Given the description of an element on the screen output the (x, y) to click on. 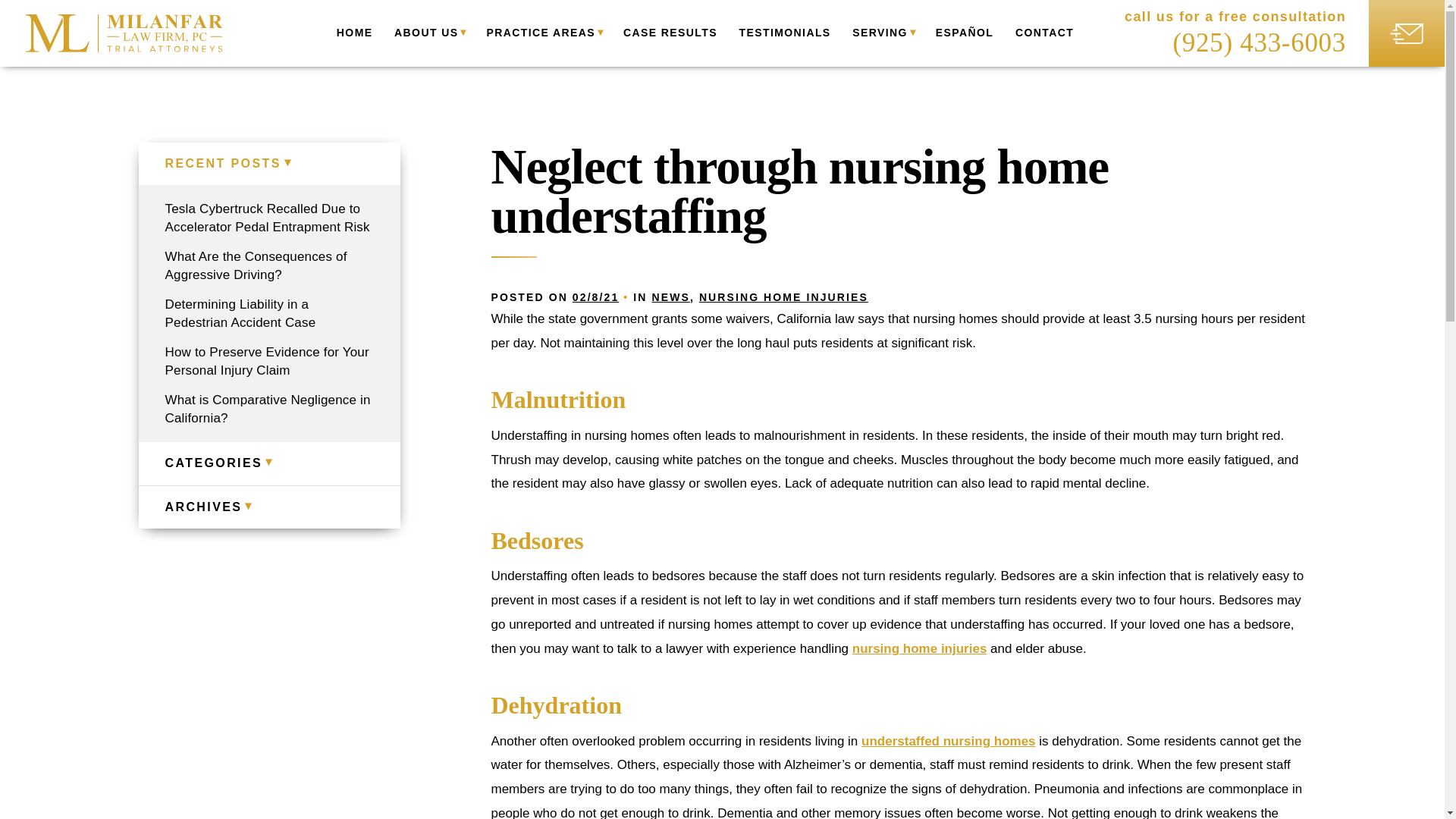
CASE RESULTS (670, 33)
P (1258, 42)
TESTIMONIALS (785, 33)
nursing home injuries (919, 648)
How to Preserve Evidence for Your Personal Injury Claim (268, 361)
NEWS (669, 297)
Milanfar Law (123, 33)
Determining Liability in a Pedestrian Accident Case (268, 313)
HOME (354, 33)
NURSING HOME INJURIES (782, 297)
What Are the Consequences of Aggressive Driving? (268, 266)
CONTACT (1044, 33)
understaffed nursing homes (948, 740)
PRACTICE AREAS (543, 33)
